Given the description of an element on the screen output the (x, y) to click on. 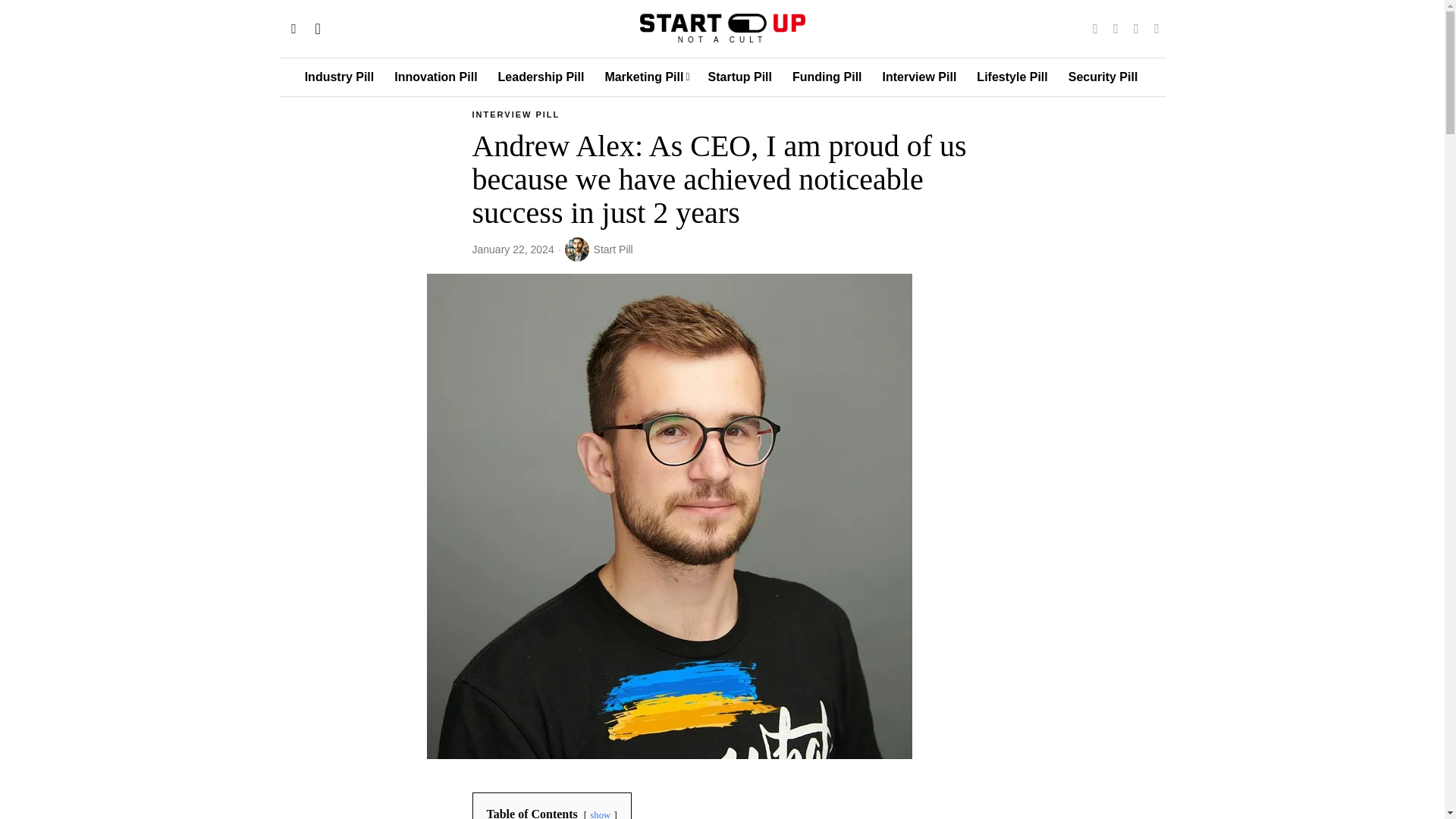
INTERVIEW PILL (515, 115)
Funding Pill (828, 77)
Security Pill (1104, 77)
Leadership Pill (542, 77)
22 Jan, 2024 13:51:29 (512, 249)
Innovation Pill (436, 77)
Startup Pill (740, 77)
Interview Pill (920, 77)
Industry Pill (340, 77)
Marketing Pill (646, 77)
